Given the description of an element on the screen output the (x, y) to click on. 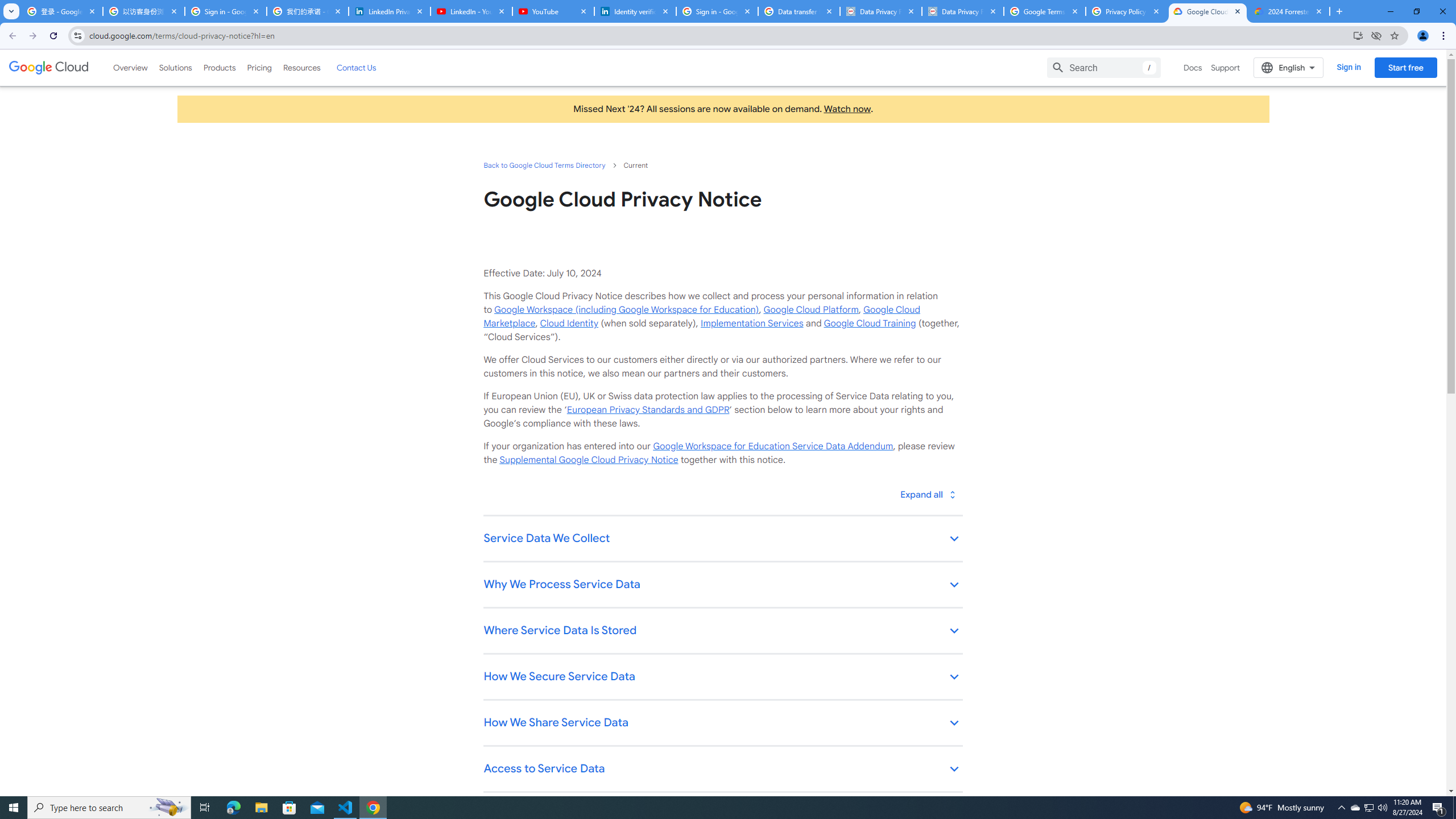
Data Privacy Framework (963, 11)
Contact Us (355, 67)
Google Cloud Marketplace (701, 316)
Service Data We Collect keyboard_arrow_down (722, 539)
Docs (1192, 67)
Data Privacy Framework (880, 11)
Why We Process Service Data keyboard_arrow_down (722, 585)
Watch now (847, 108)
Toggle all (927, 493)
